Given the description of an element on the screen output the (x, y) to click on. 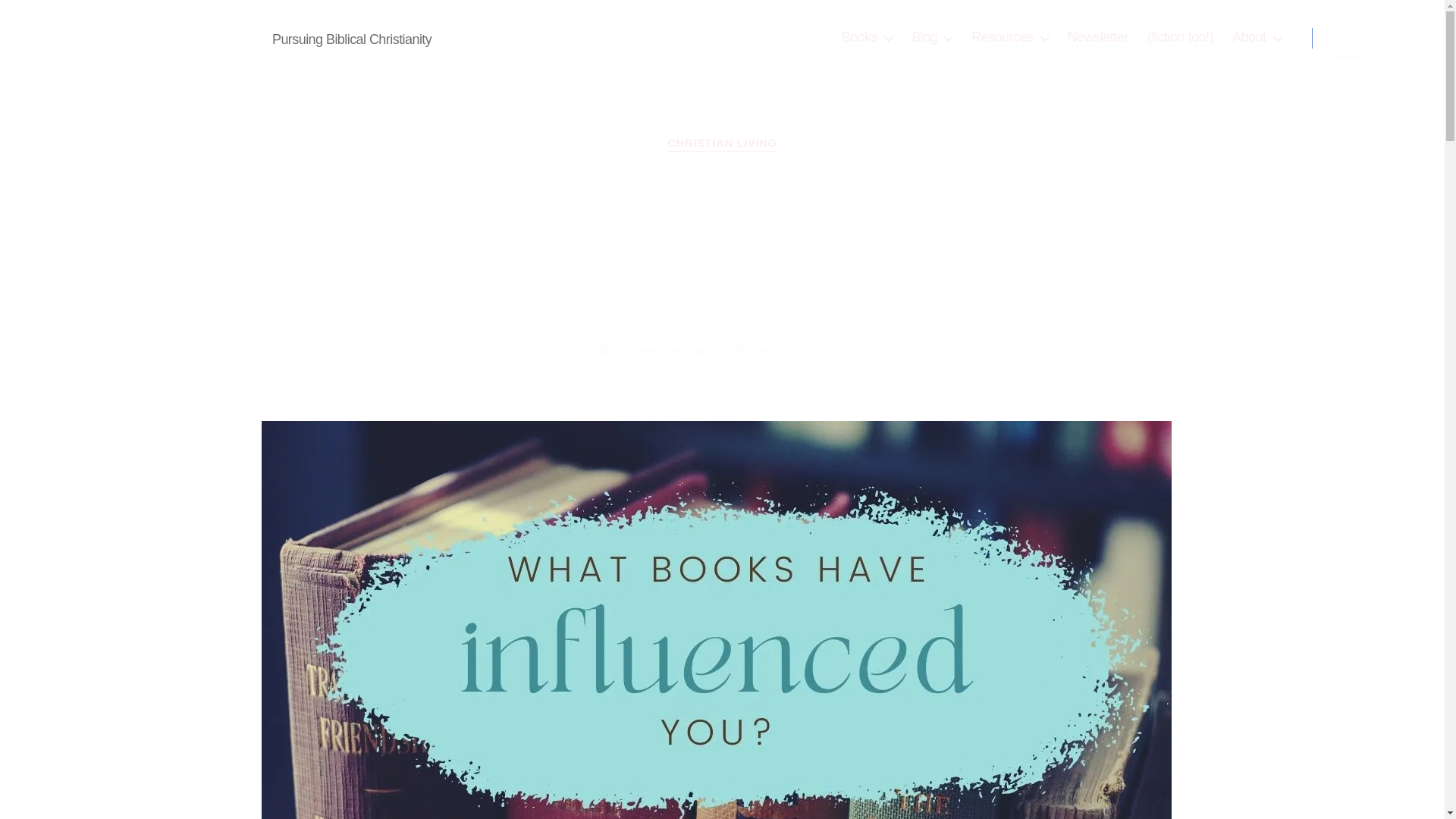
Blog (931, 37)
About (1256, 37)
Search (1350, 37)
Books (867, 37)
Newsletter (1097, 37)
Resources (1009, 37)
Author Peter DeHaan (168, 37)
